Given the description of an element on the screen output the (x, y) to click on. 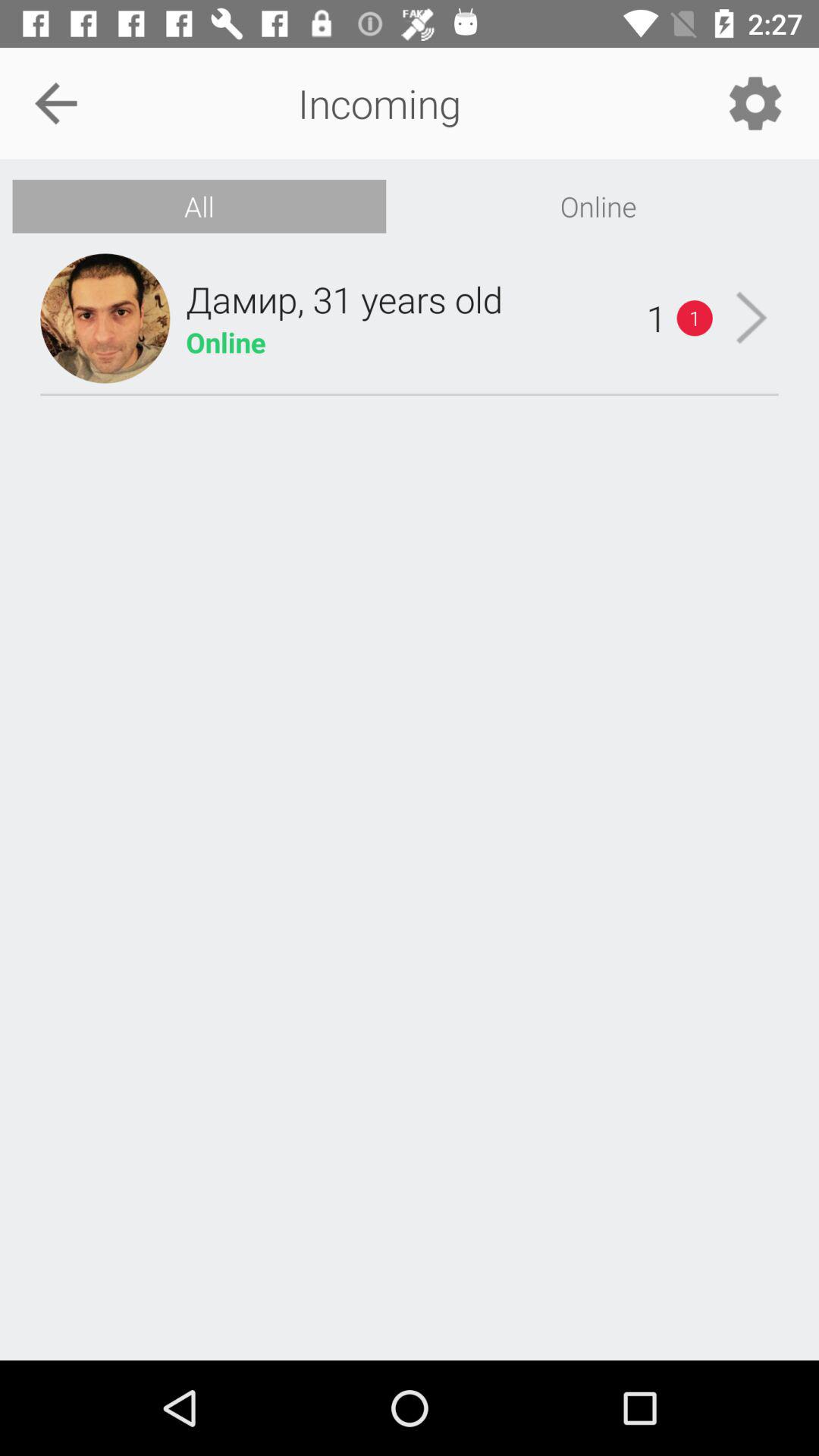
click icon below the online (751, 317)
